Given the description of an element on the screen output the (x, y) to click on. 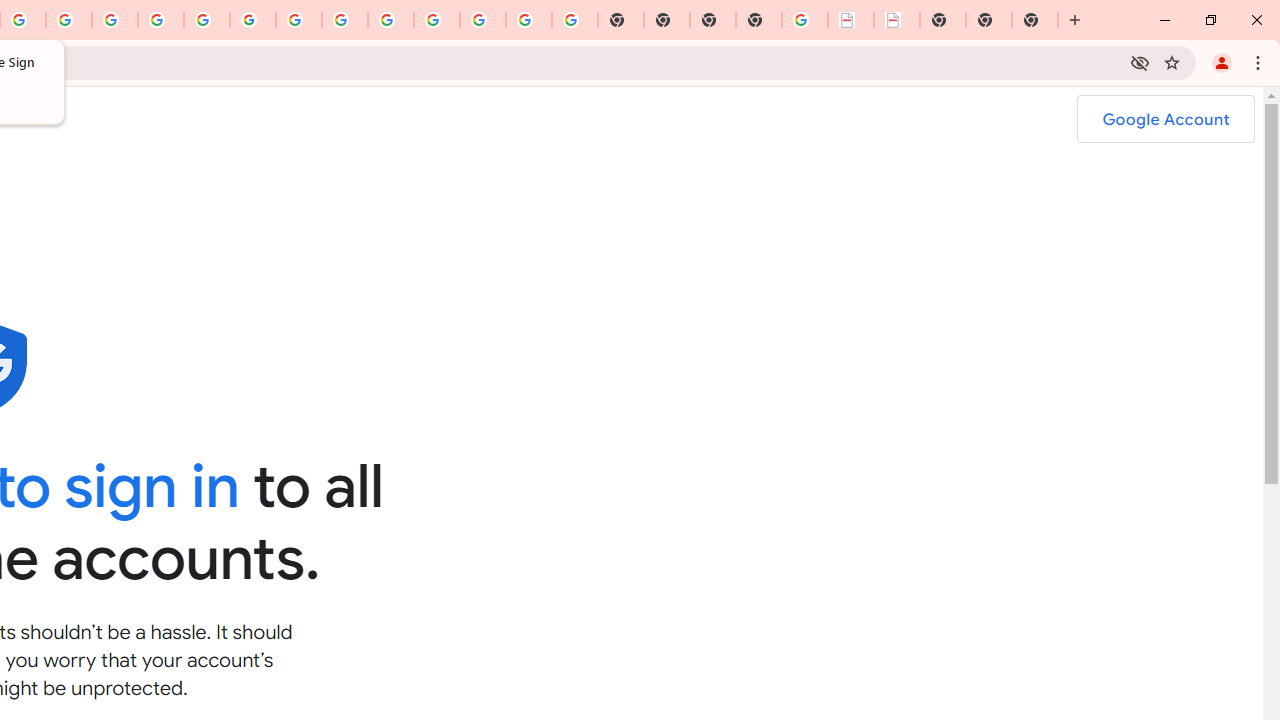
New Tab (1035, 20)
YouTube (299, 20)
Privacy Help Center - Policies Help (115, 20)
New Tab (759, 20)
Google Account (1165, 119)
